Given the description of an element on the screen output the (x, y) to click on. 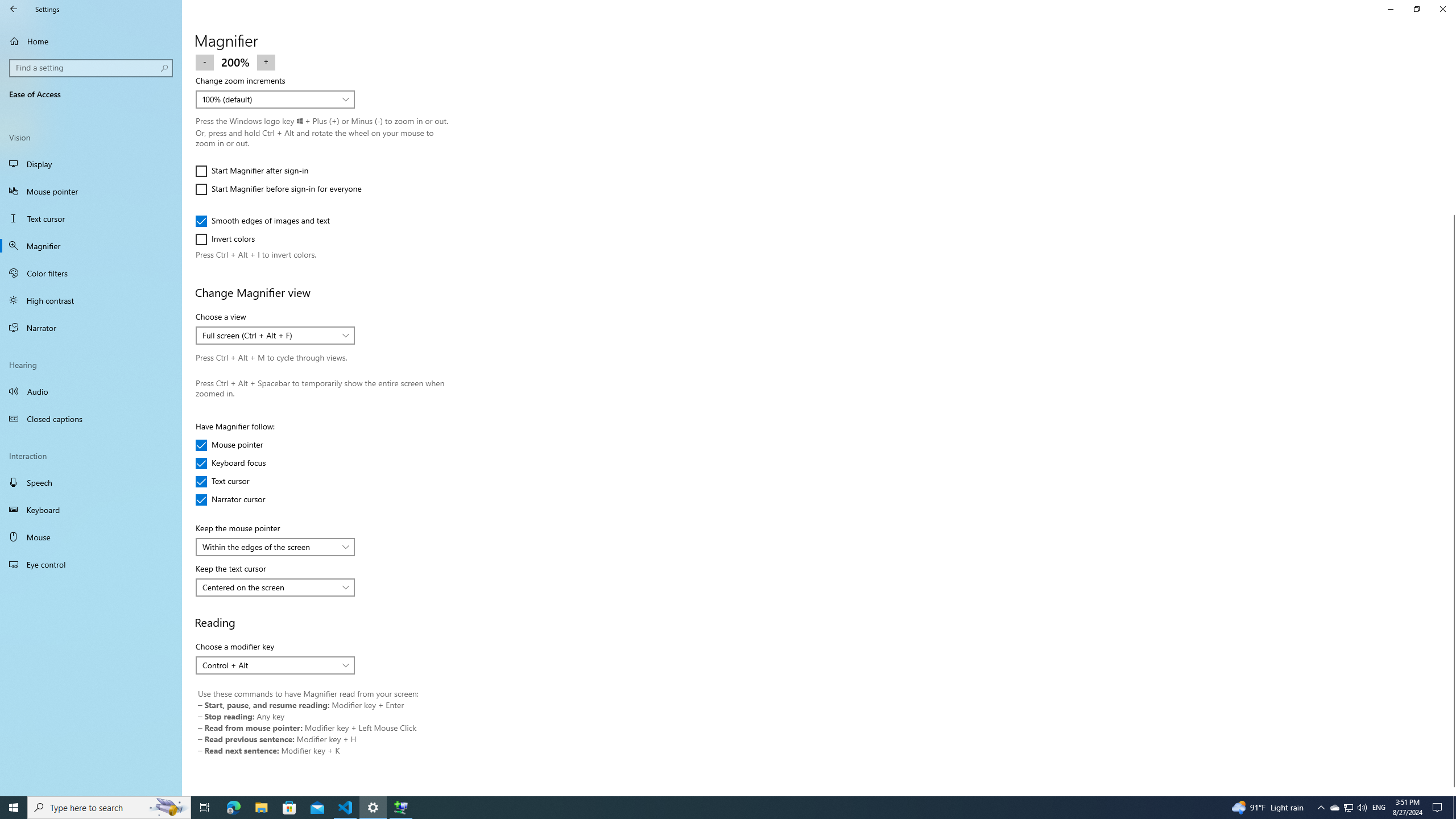
Within the edges of the screen (269, 546)
Change zoom increments (275, 99)
Vertical Small Decrease (1451, 58)
Choose a modifier key (275, 665)
Search box, Find a setting (91, 67)
100% (default) (269, 99)
Eye control (91, 564)
Control + Alt (269, 665)
Zoom in (266, 61)
